Given the description of an element on the screen output the (x, y) to click on. 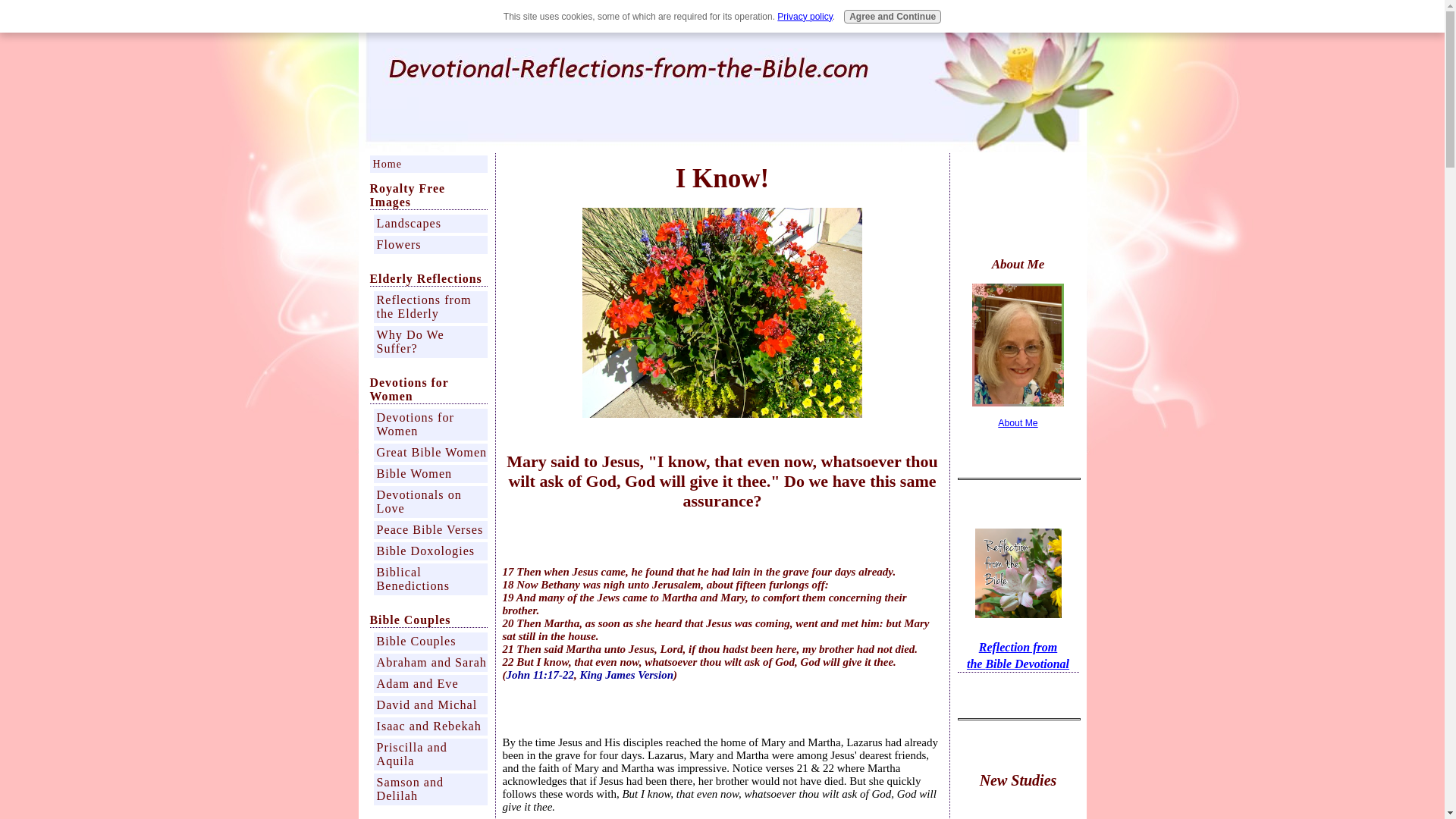
Great Bible Women (429, 452)
Flowers (429, 244)
Devotions for Women (429, 424)
Bible Women (429, 474)
Why Do We Suffer? (429, 341)
Biblical Benedictions (429, 579)
King James Version (625, 674)
Peace Bible Verses (429, 529)
Home (428, 163)
Landscapes (429, 223)
Bible Doxologies (429, 551)
John 11:17-22 (540, 674)
Devotionals on Love (429, 501)
Bible Couples (429, 641)
Reflections from the Elderly (429, 306)
